Given the description of an element on the screen output the (x, y) to click on. 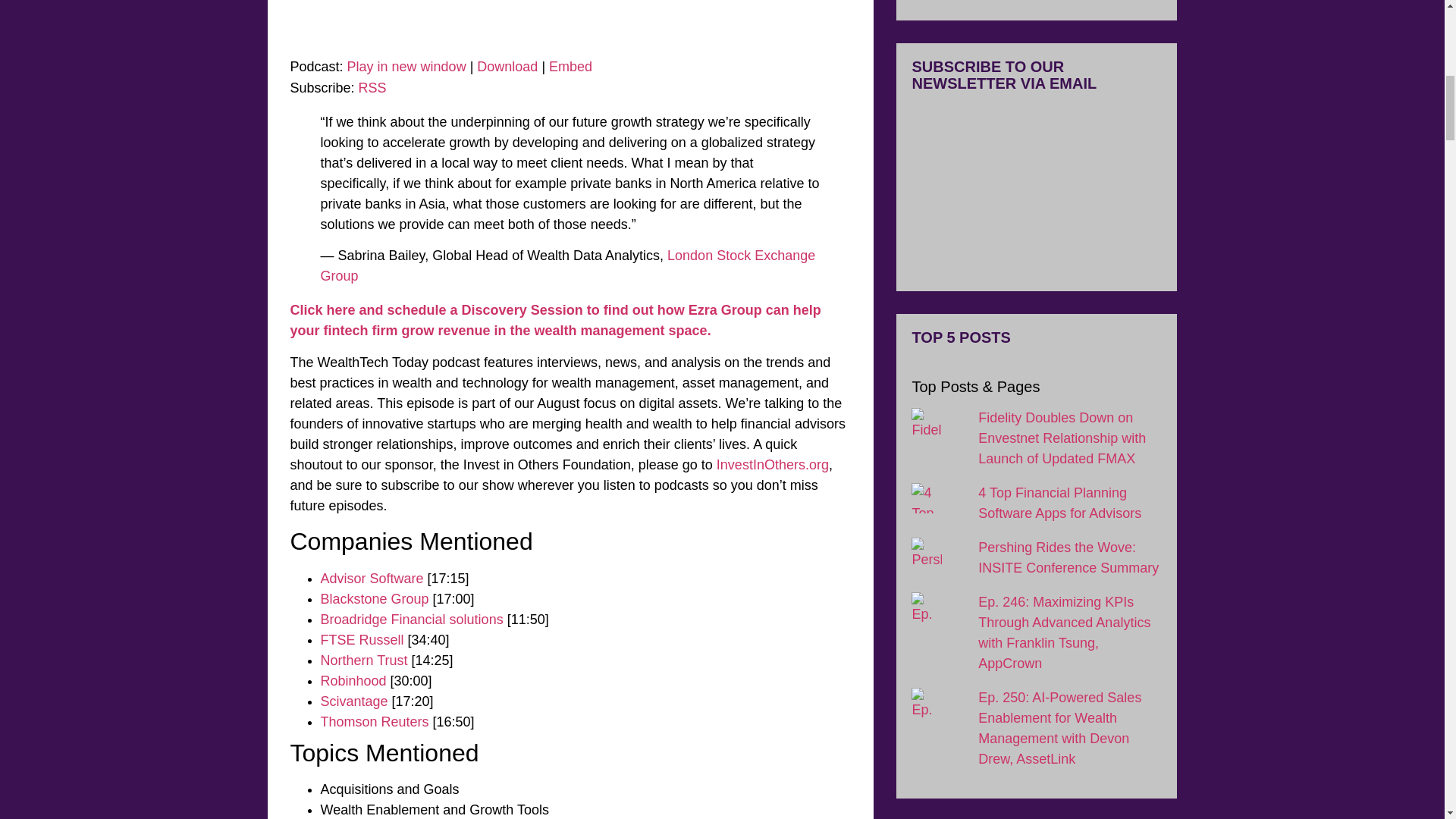
Play in new window (406, 66)
Download (507, 66)
Embed (570, 66)
4 Top Financial Planning Software Apps for Advisors (1059, 502)
Pershing Rides the Wove: INSITE Conference Summary (1068, 557)
Subscribe via RSS (372, 87)
Blubrry Podcast Player (569, 25)
